Given the description of an element on the screen output the (x, y) to click on. 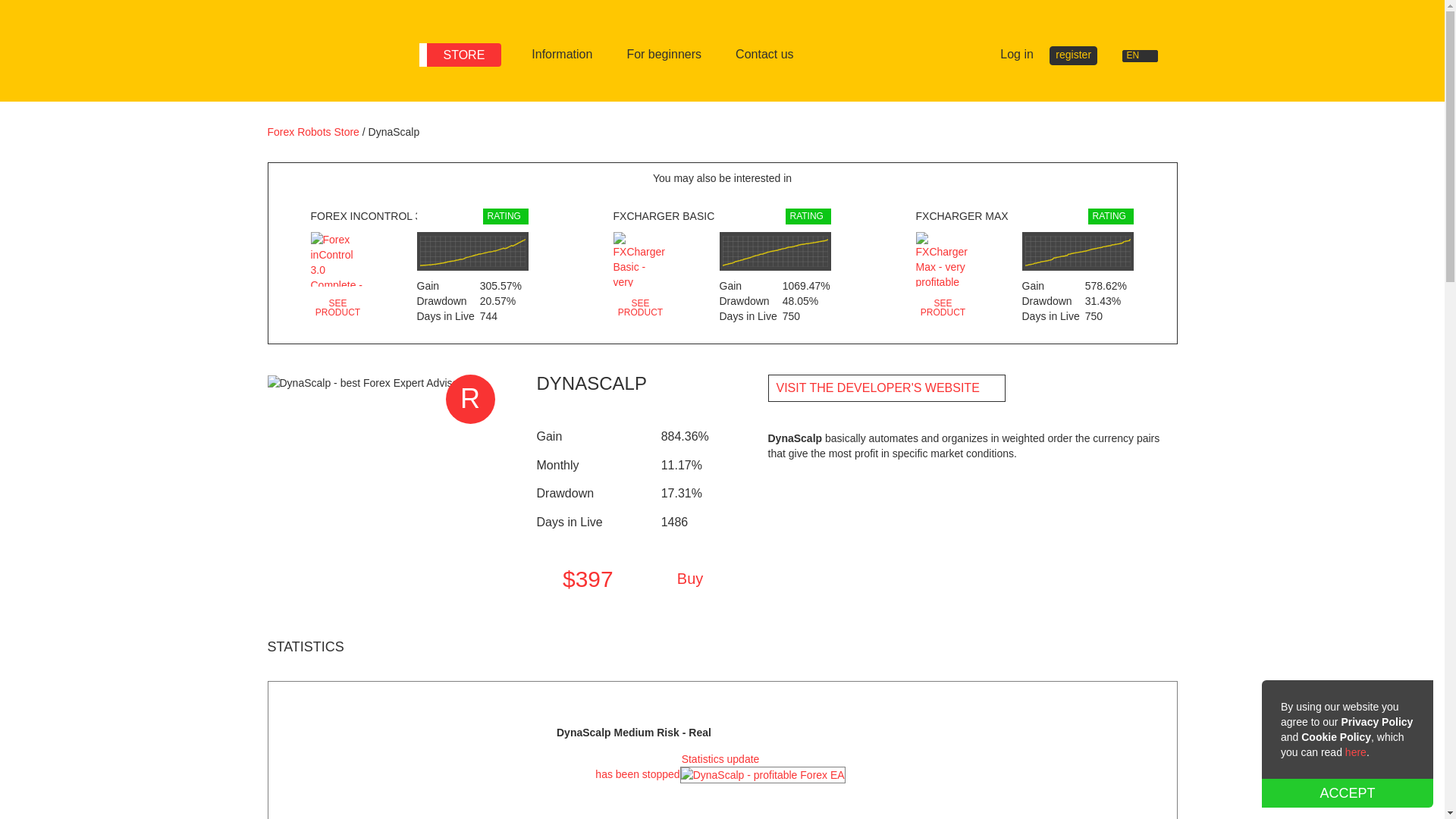
Contact us (764, 54)
EN (1146, 55)
Information (560, 54)
Log in (1009, 54)
register (1073, 55)
STORE (459, 54)
For beginners (663, 54)
